Given the description of an element on the screen output the (x, y) to click on. 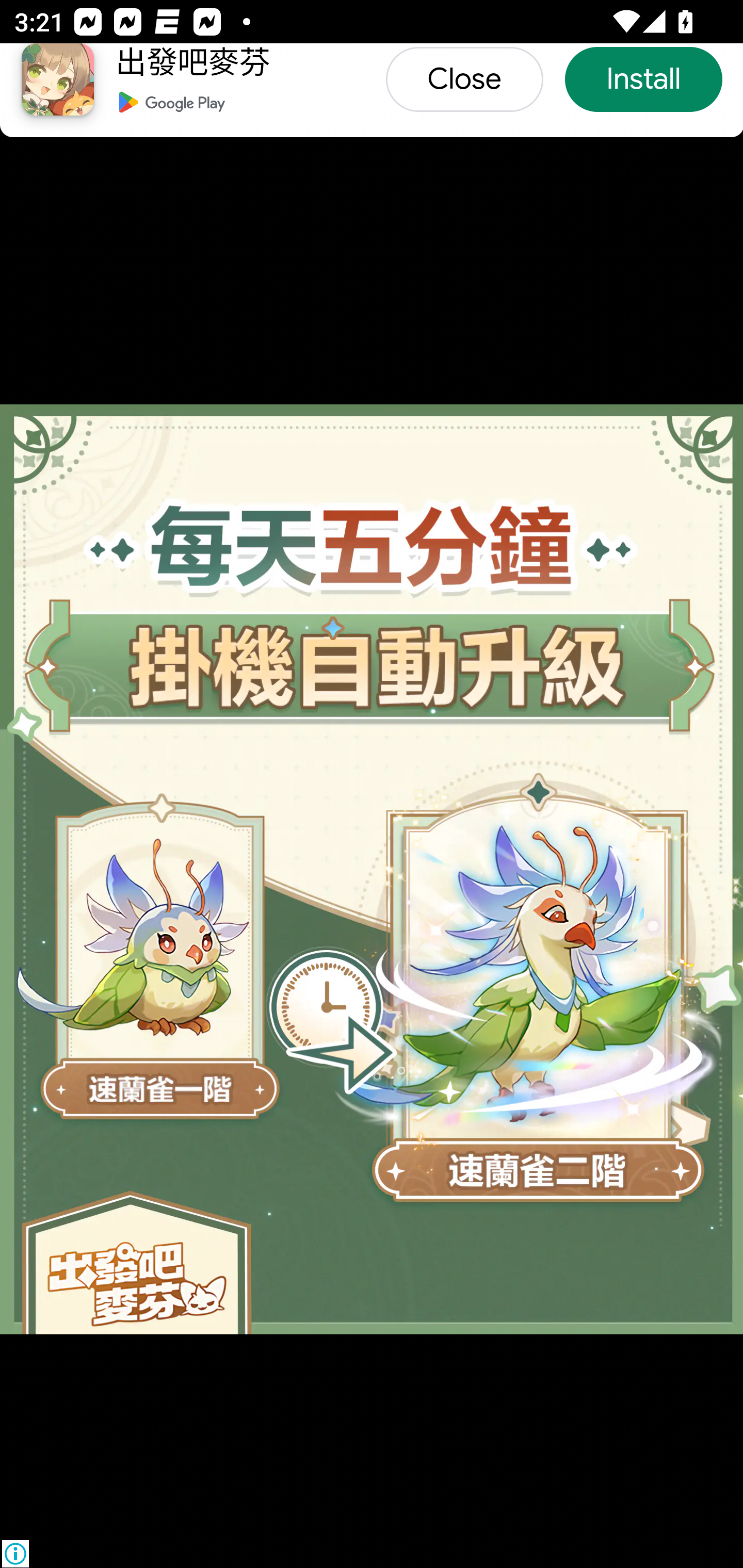
Close (463, 79)
Install (643, 79)
